Given the description of an element on the screen output the (x, y) to click on. 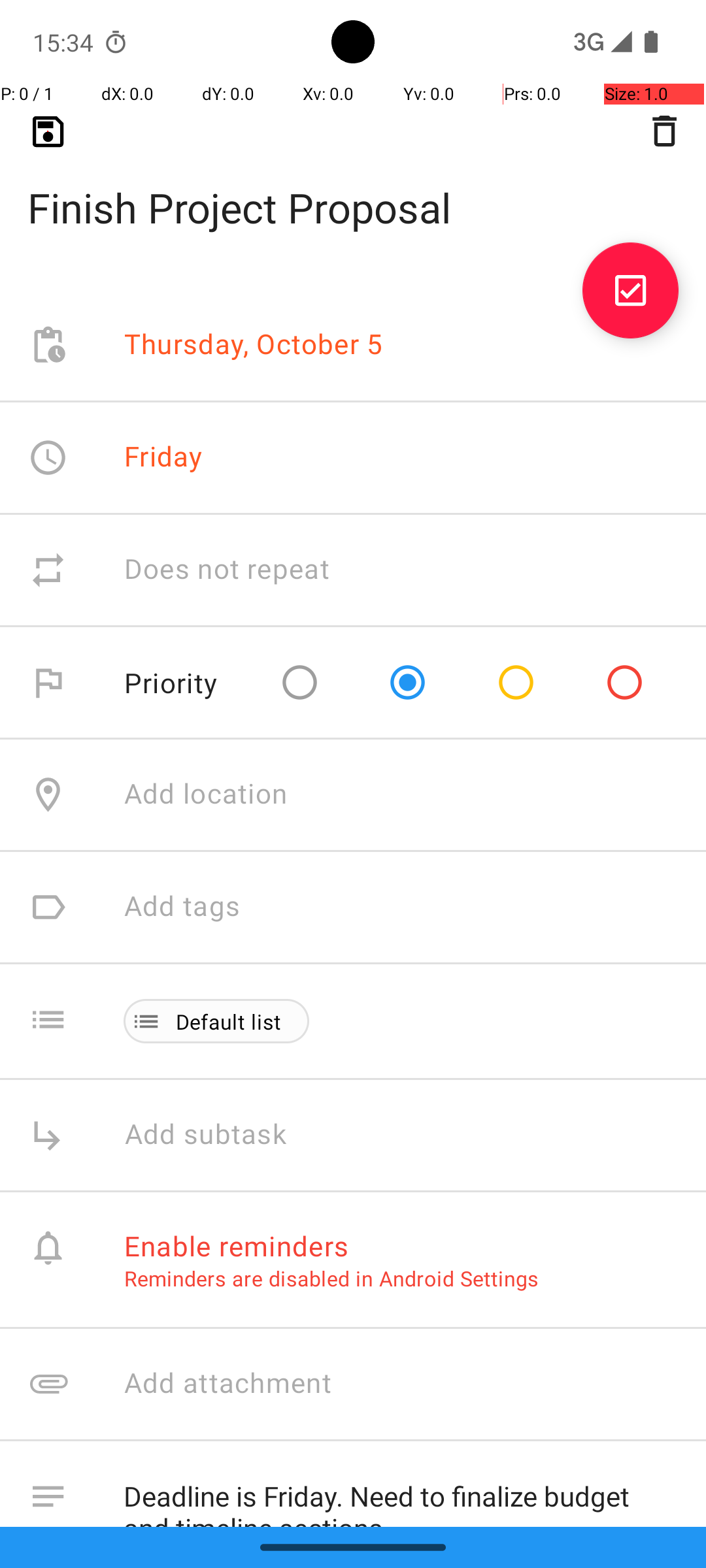
Thursday, October 5 Element type: android.widget.TextView (253, 344)
